Given the description of an element on the screen output the (x, y) to click on. 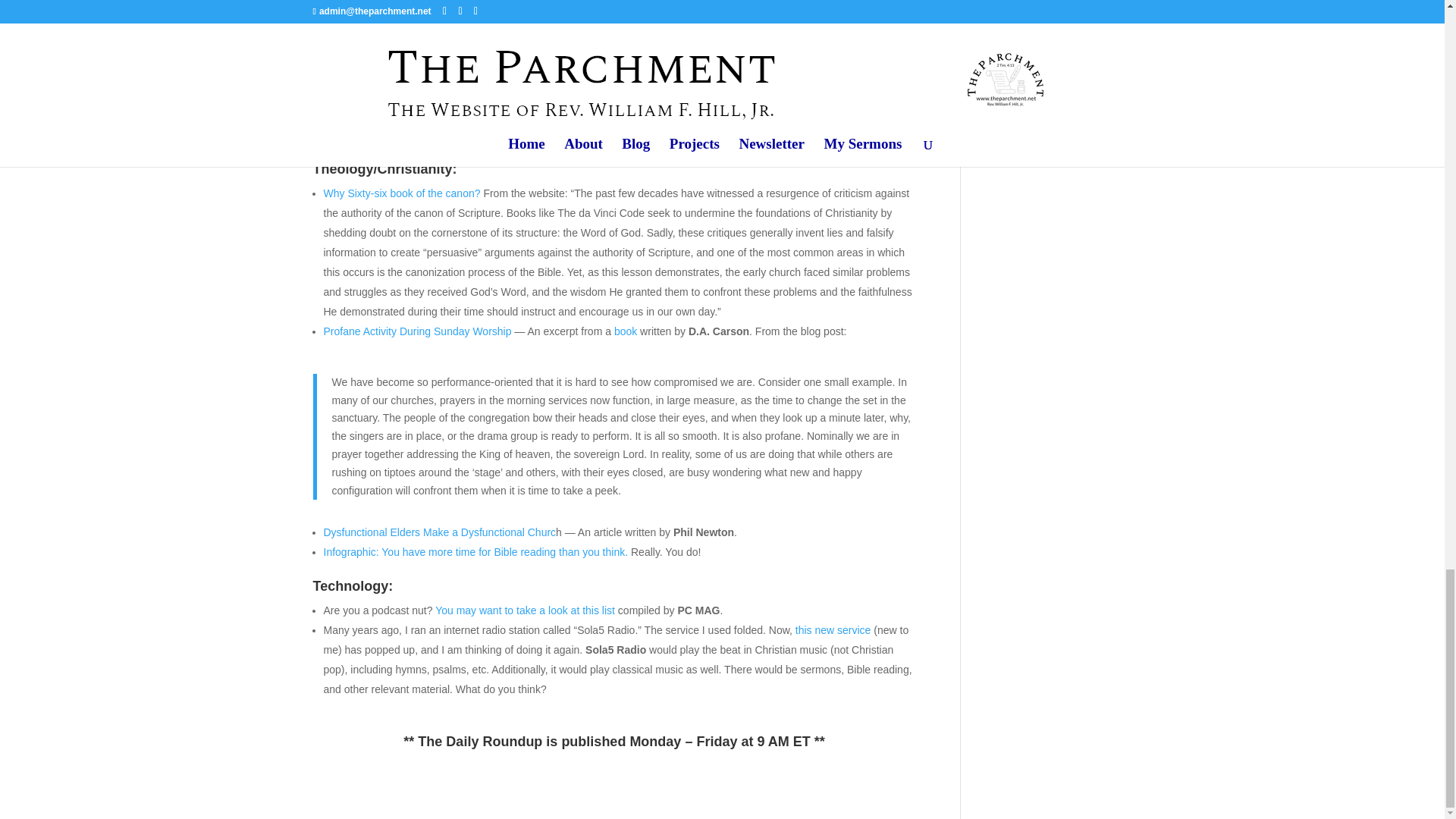
Posts by William Hill (352, 54)
Profane Activity During Sunday Worship (417, 331)
William Hill (352, 54)
this new service (832, 630)
You may want to take a look at this list (524, 610)
Daily Roundup for December 2, 2019 (475, 28)
book (625, 331)
Daily Roundup (487, 54)
Why Sixty-six book of the canon? (401, 193)
